Given the description of an element on the screen output the (x, y) to click on. 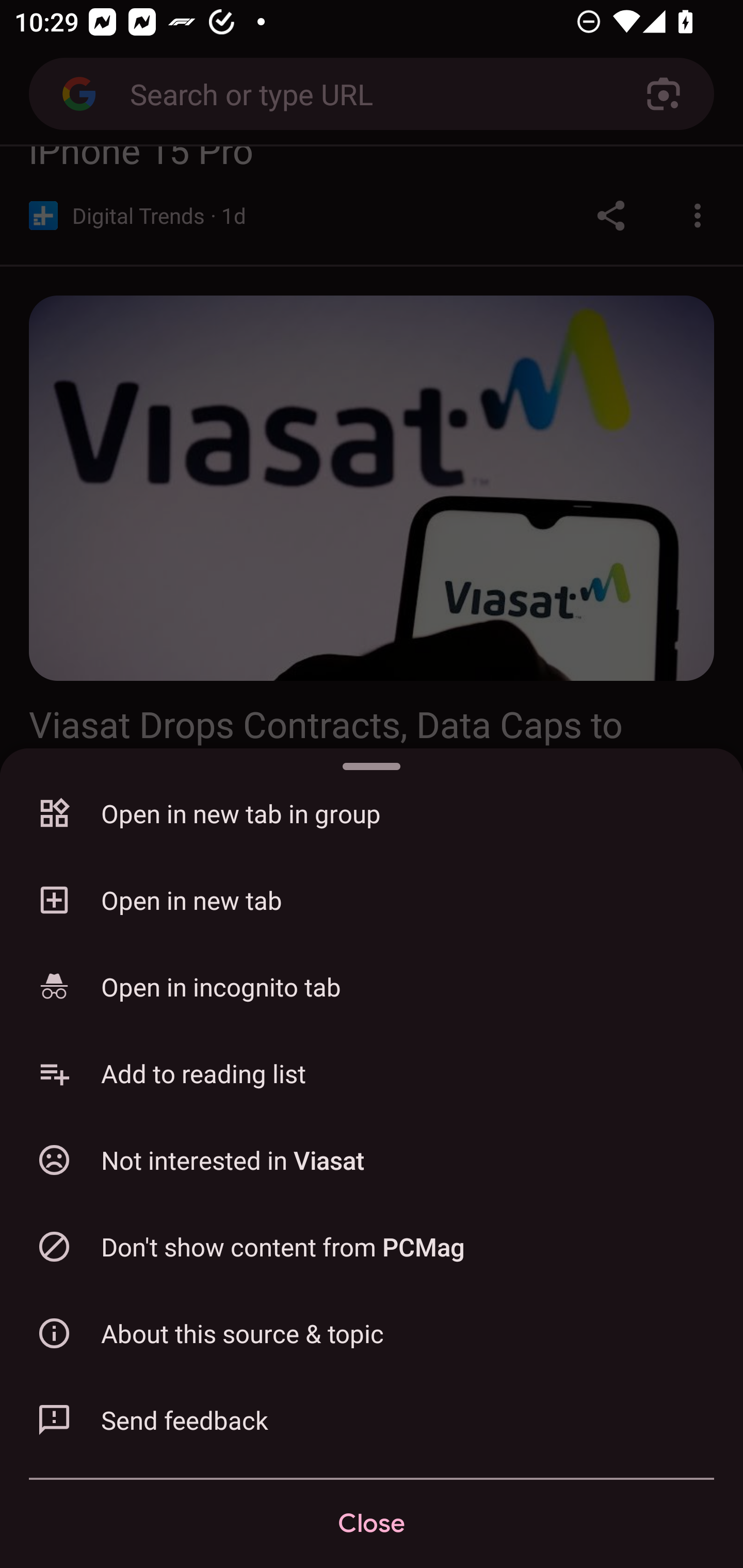
Search with your camera using Google Lens (663, 93)
Search or type URL (364, 92)
Close (371, 1524)
